Given the description of an element on the screen output the (x, y) to click on. 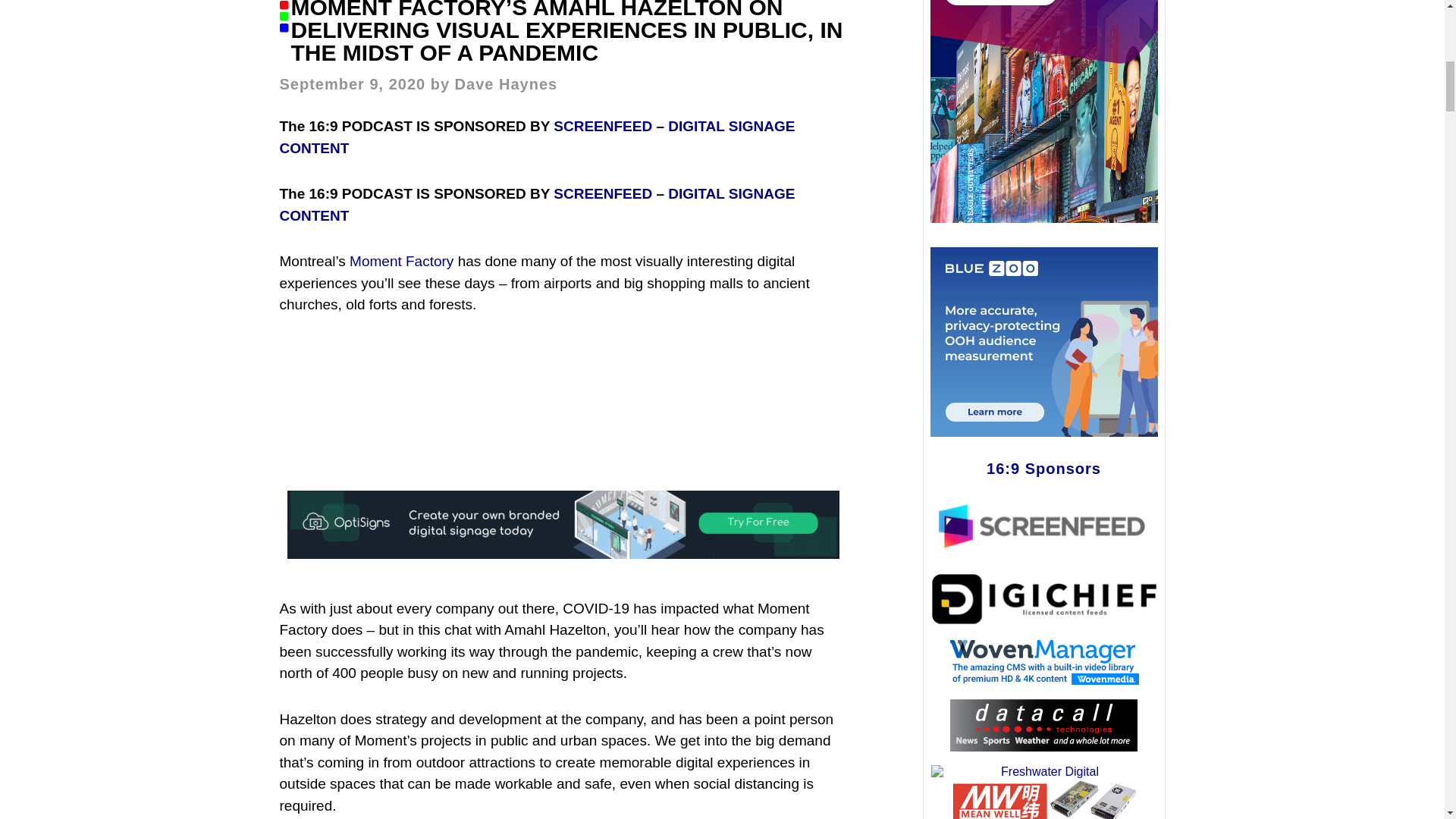
DIGITAL SIGNAGE CONTENT (536, 136)
DIGITAL SIGNAGE CONTENT (536, 204)
Amahl Hazelton, Moment Factory (562, 397)
SCREENFEED (602, 193)
Moment Factory (400, 261)
SCREENFEED (602, 125)
